Given the description of an element on the screen output the (x, y) to click on. 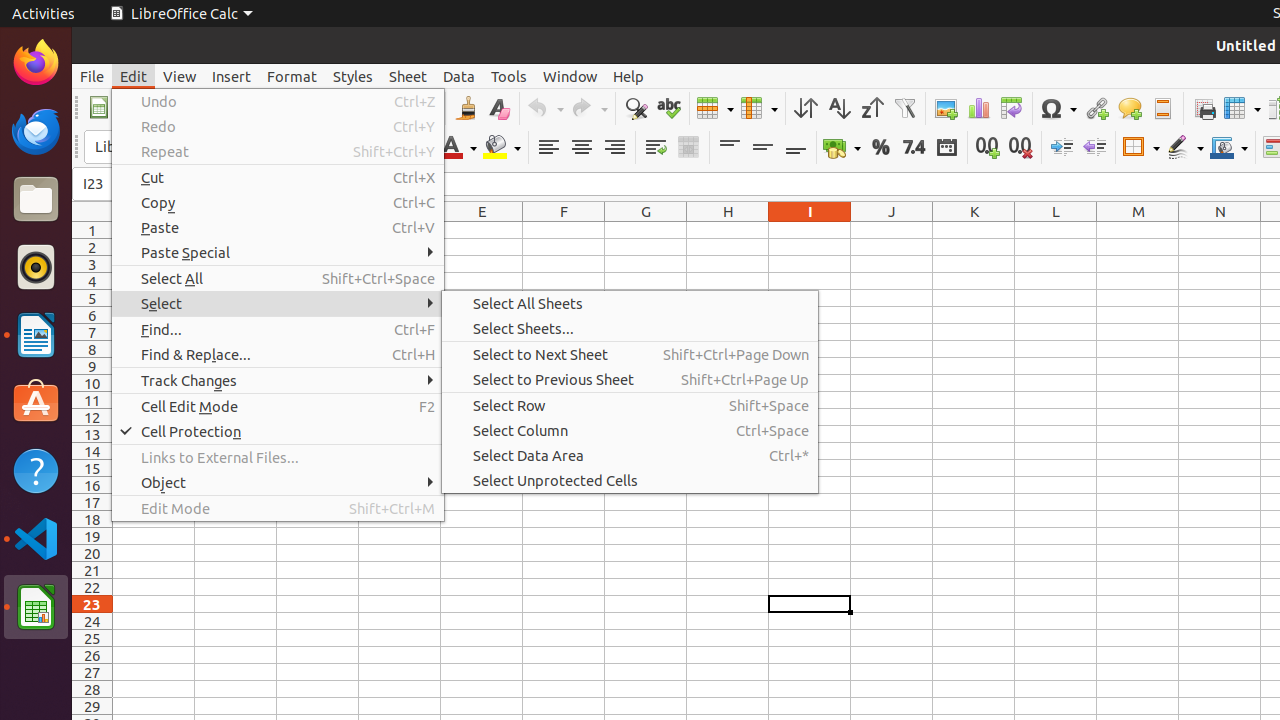
Sheet Element type: menu (408, 76)
K1 Element type: table-cell (974, 230)
Align Left Element type: push-button (548, 147)
Align Bottom Element type: push-button (795, 147)
Select All Element type: menu-item (278, 278)
